Given the description of an element on the screen output the (x, y) to click on. 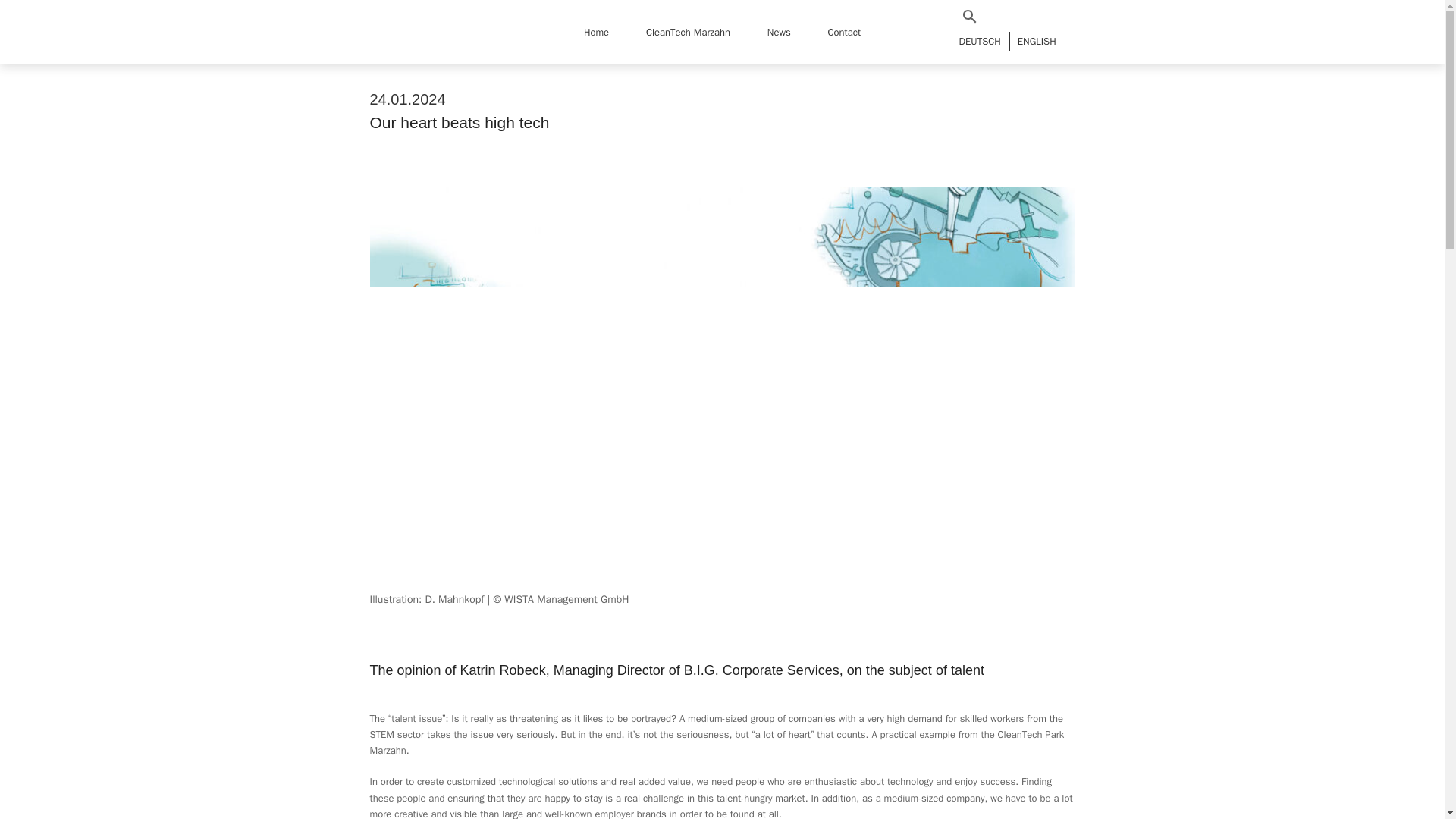
Contact (844, 32)
DEUTSCH (978, 40)
ENGLISH (1037, 40)
CleanTech Marzahn (687, 32)
